Given the description of an element on the screen output the (x, y) to click on. 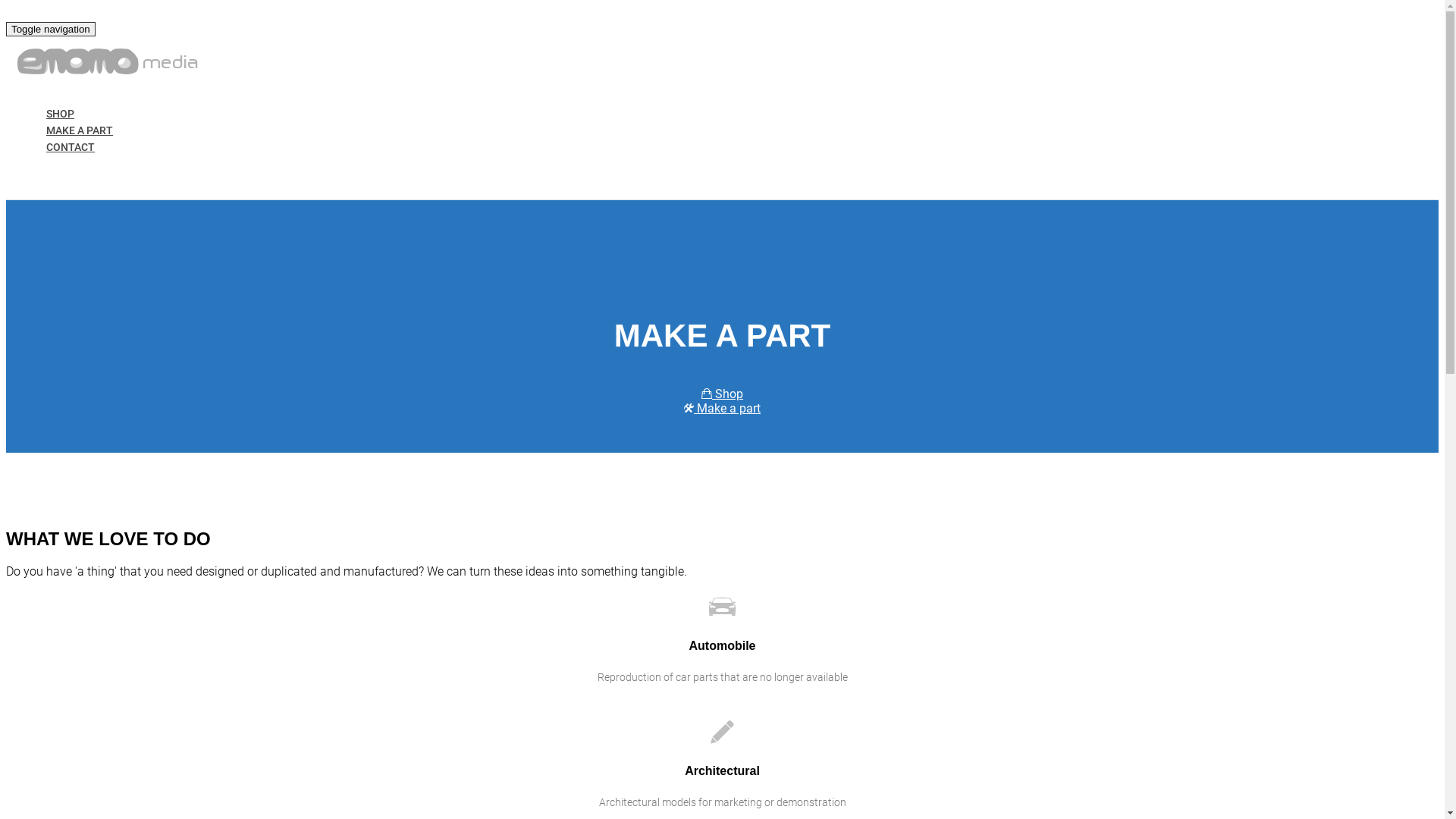
Shop Element type: text (722, 393)
SHOP Element type: text (60, 114)
emomo Media logo Element type: hover (108, 62)
CONTACT Element type: text (70, 147)
MAKE A PART Element type: text (79, 131)
Make a part Element type: text (722, 408)
Toggle navigation Element type: text (50, 28)
